Given the description of an element on the screen output the (x, y) to click on. 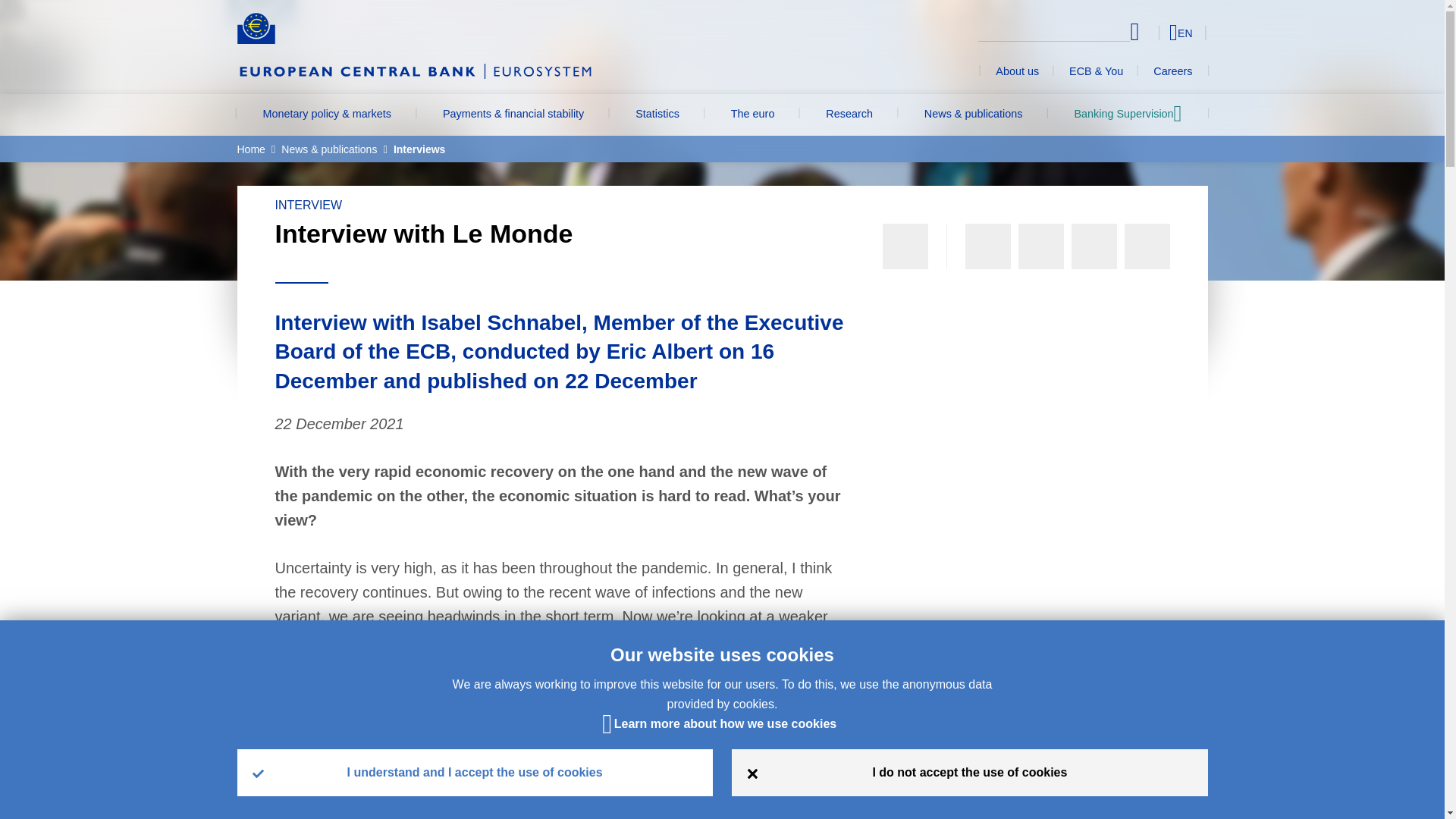
Select language (1153, 32)
